Given the description of an element on the screen output the (x, y) to click on. 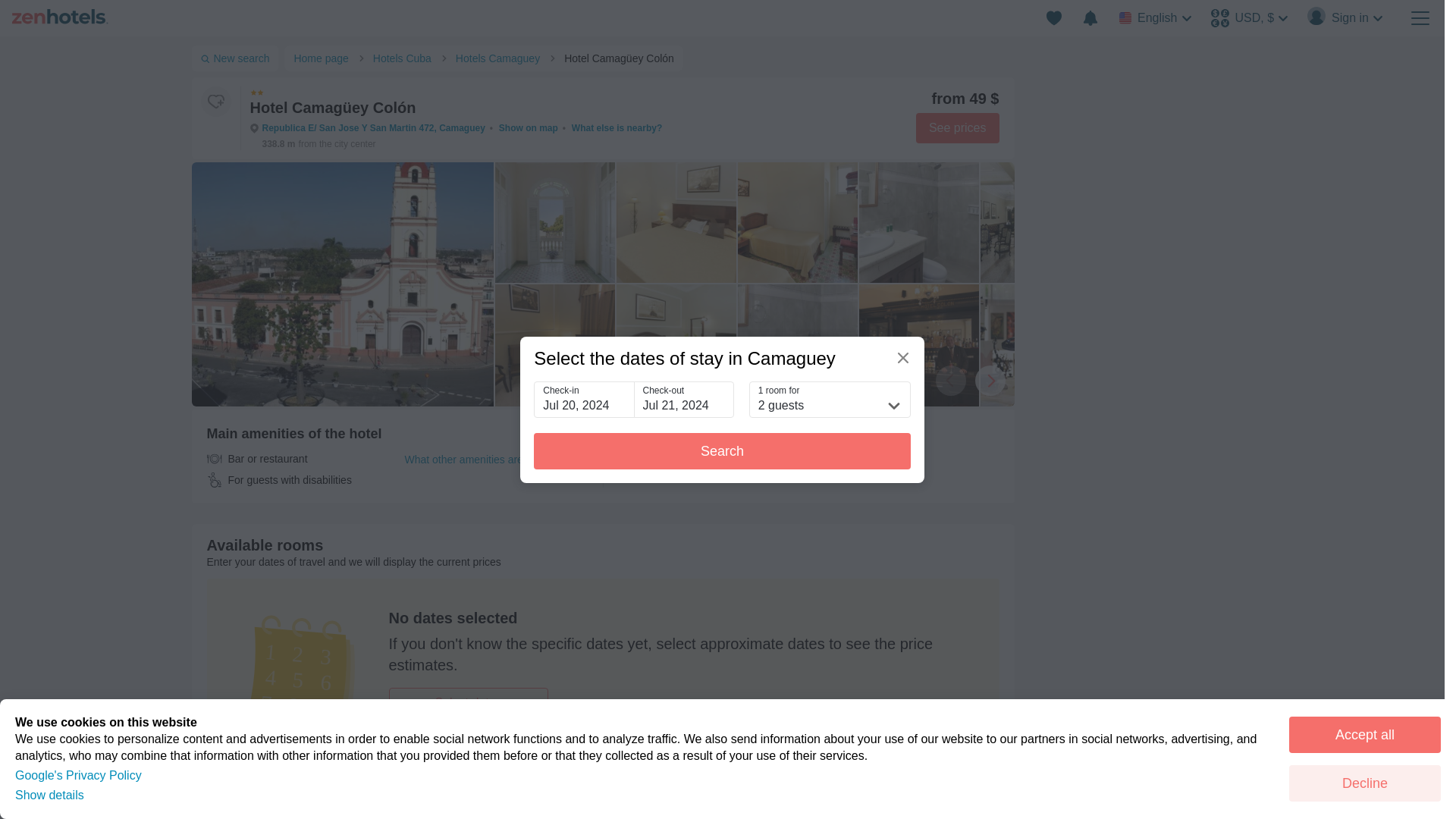
Decline (1364, 782)
Accept all (1364, 734)
Home page (322, 58)
Hotels Camaguey (500, 58)
Select dates (467, 702)
Show on map (528, 128)
New search (234, 58)
Google's Privacy Policy (77, 775)
See prices (956, 128)
Hotels Cuba (405, 58)
Search (722, 450)
Show details (49, 795)
